Given the description of an element on the screen output the (x, y) to click on. 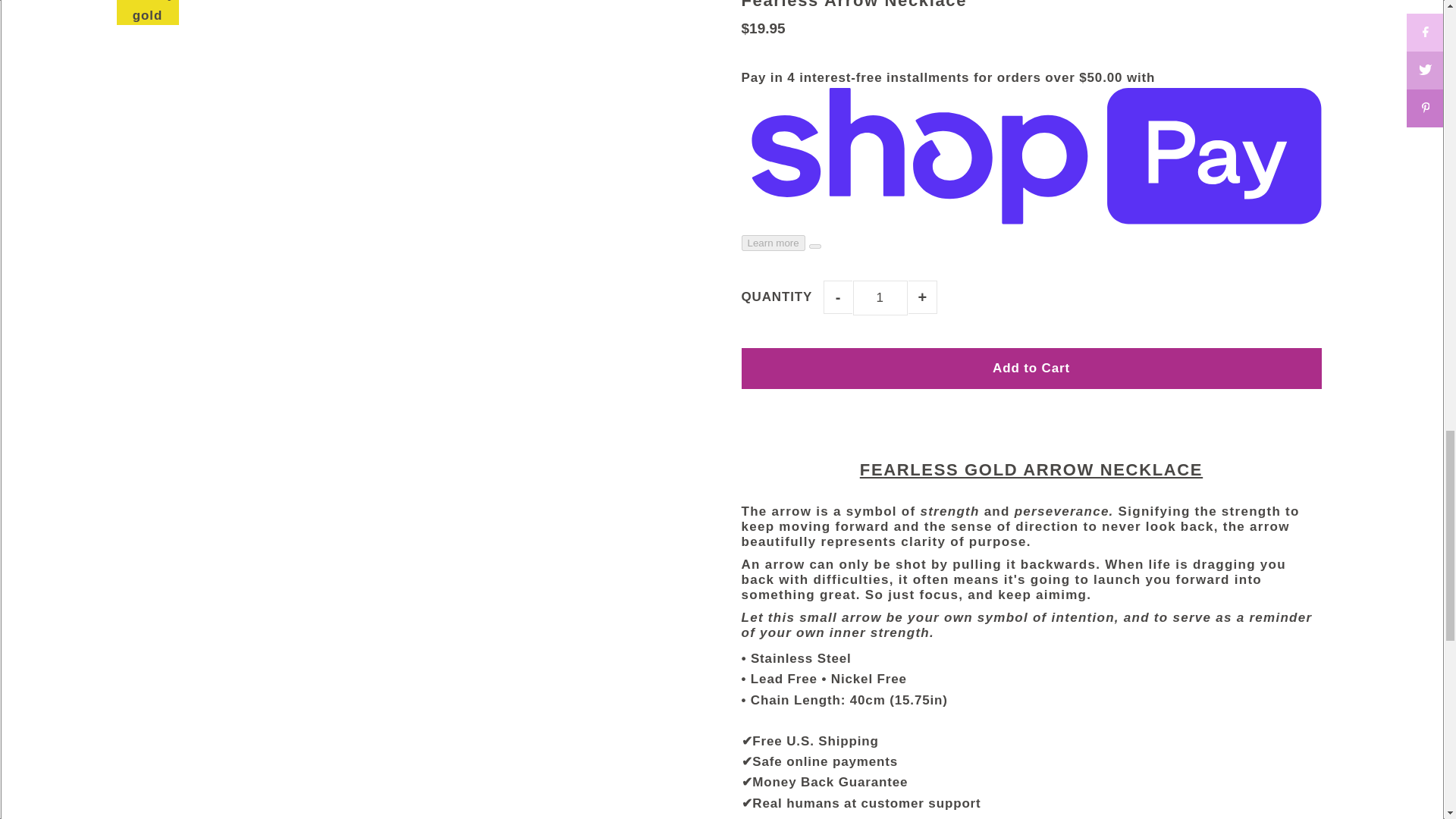
- (837, 296)
Add to Cart (1031, 368)
1 (880, 297)
